Given the description of an element on the screen output the (x, y) to click on. 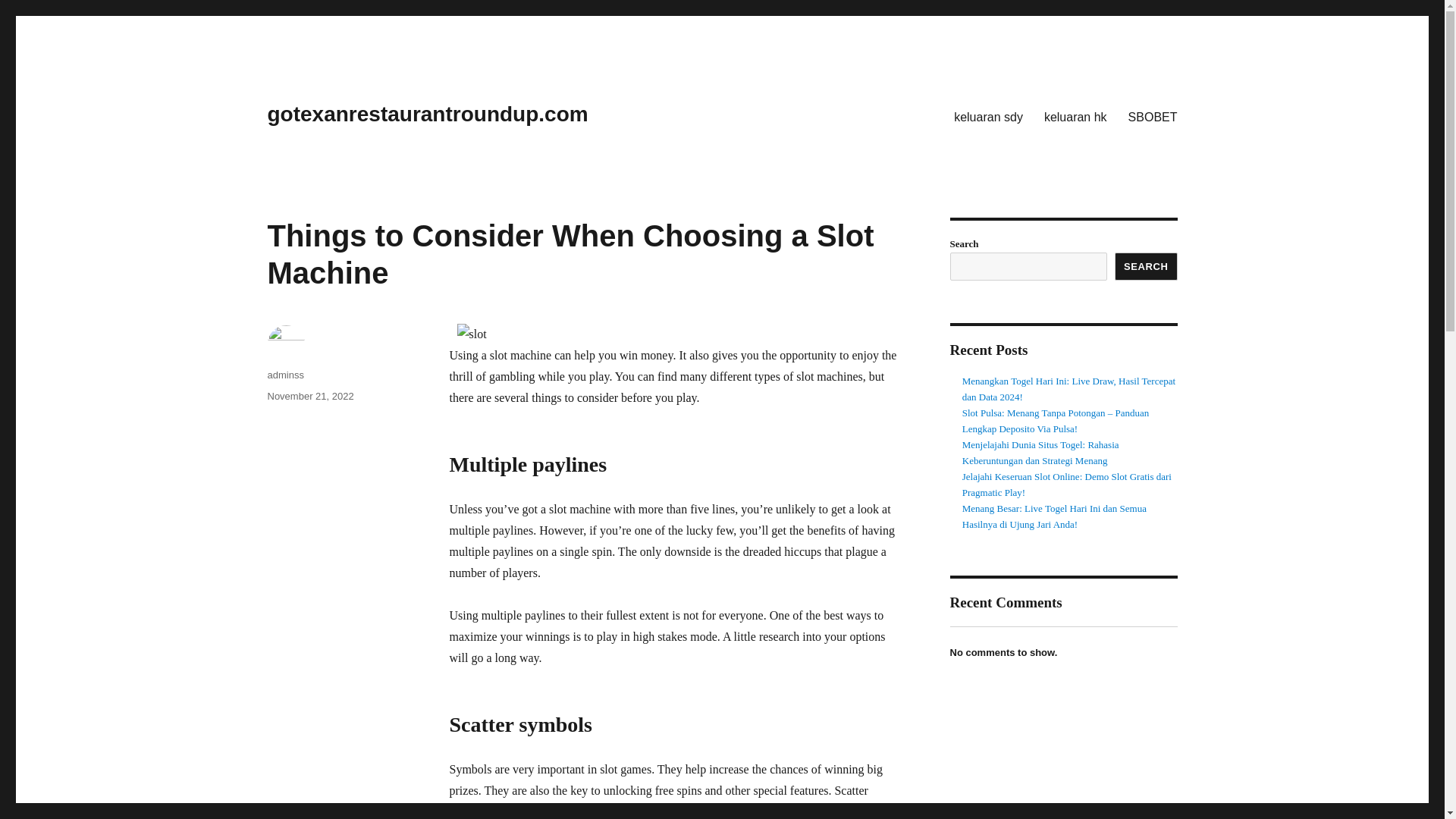
SBOBET (1153, 116)
keluaran hk (1075, 116)
November 21, 2022 (309, 396)
keluaran sdy (988, 116)
adminss (284, 374)
SEARCH (1146, 266)
